Given the description of an element on the screen output the (x, y) to click on. 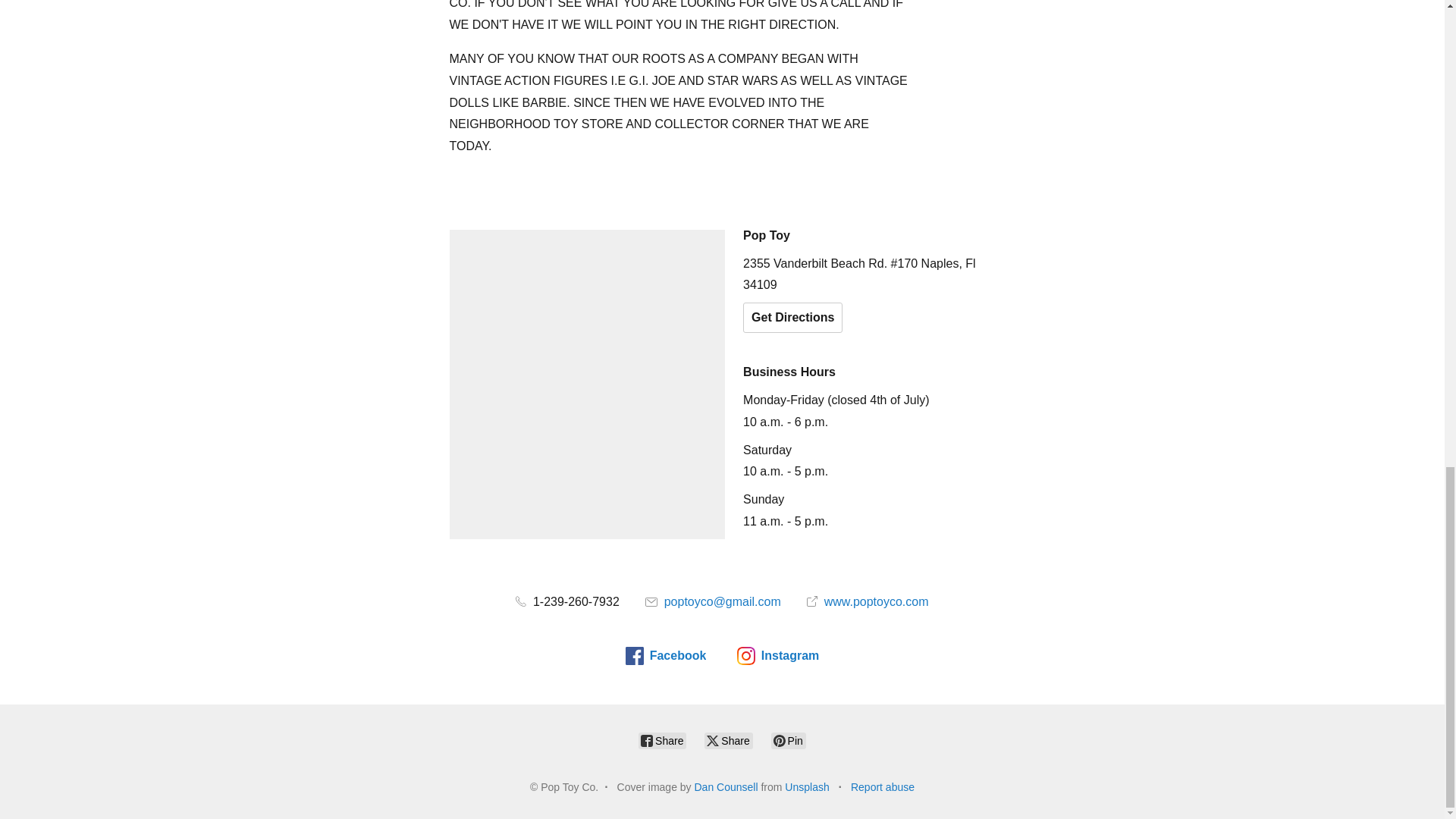
Facebook (666, 656)
Share (662, 740)
1-239-260-7932 (566, 601)
Location on map (586, 384)
Dan Counsell (726, 787)
Pin (788, 740)
Report abuse (882, 787)
www.poptoyco.com (867, 601)
Unsplash (806, 787)
Get Directions (792, 317)
